Given the description of an element on the screen output the (x, y) to click on. 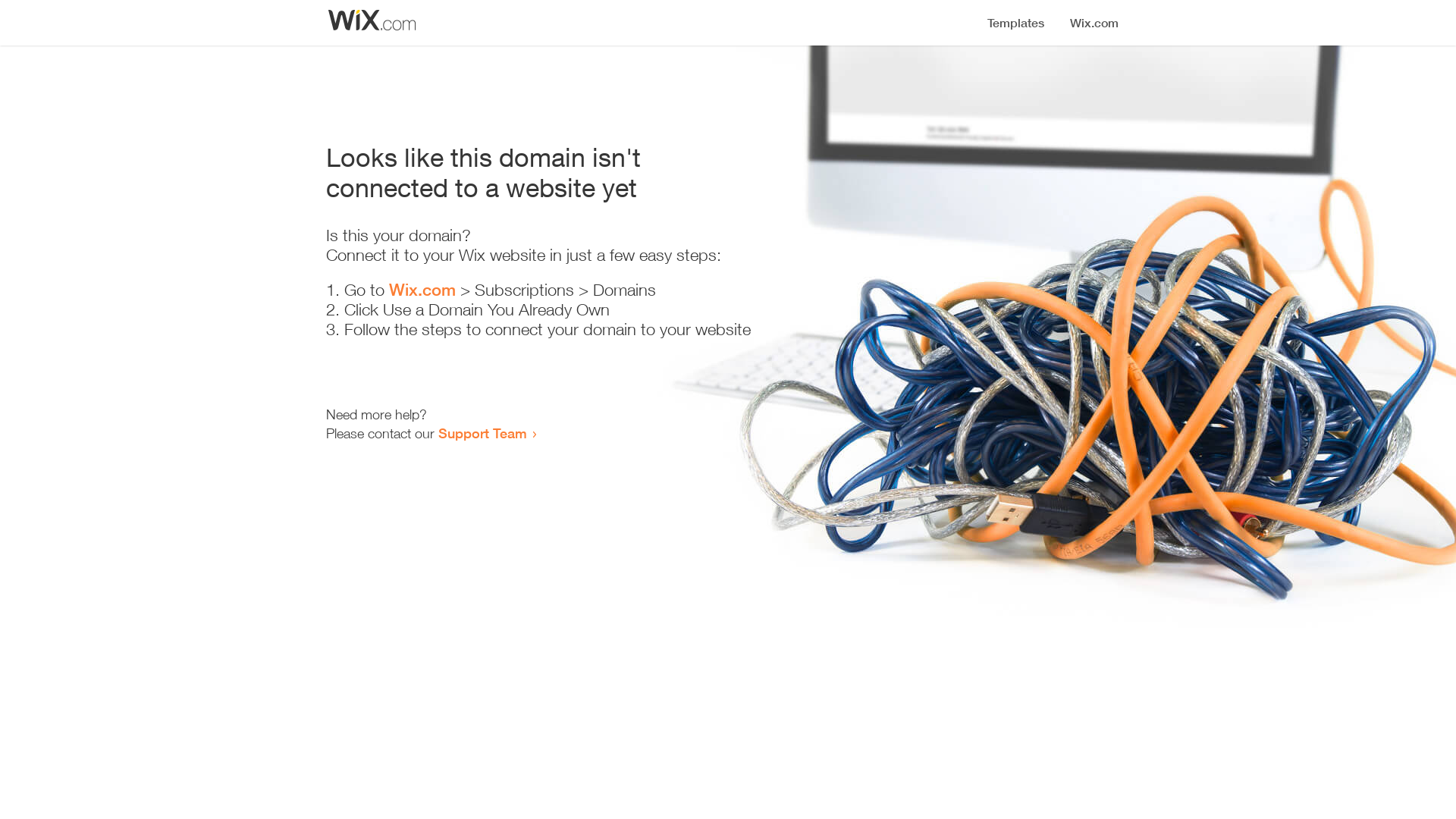
Support Team Element type: text (482, 432)
Wix.com Element type: text (422, 289)
